Given the description of an element on the screen output the (x, y) to click on. 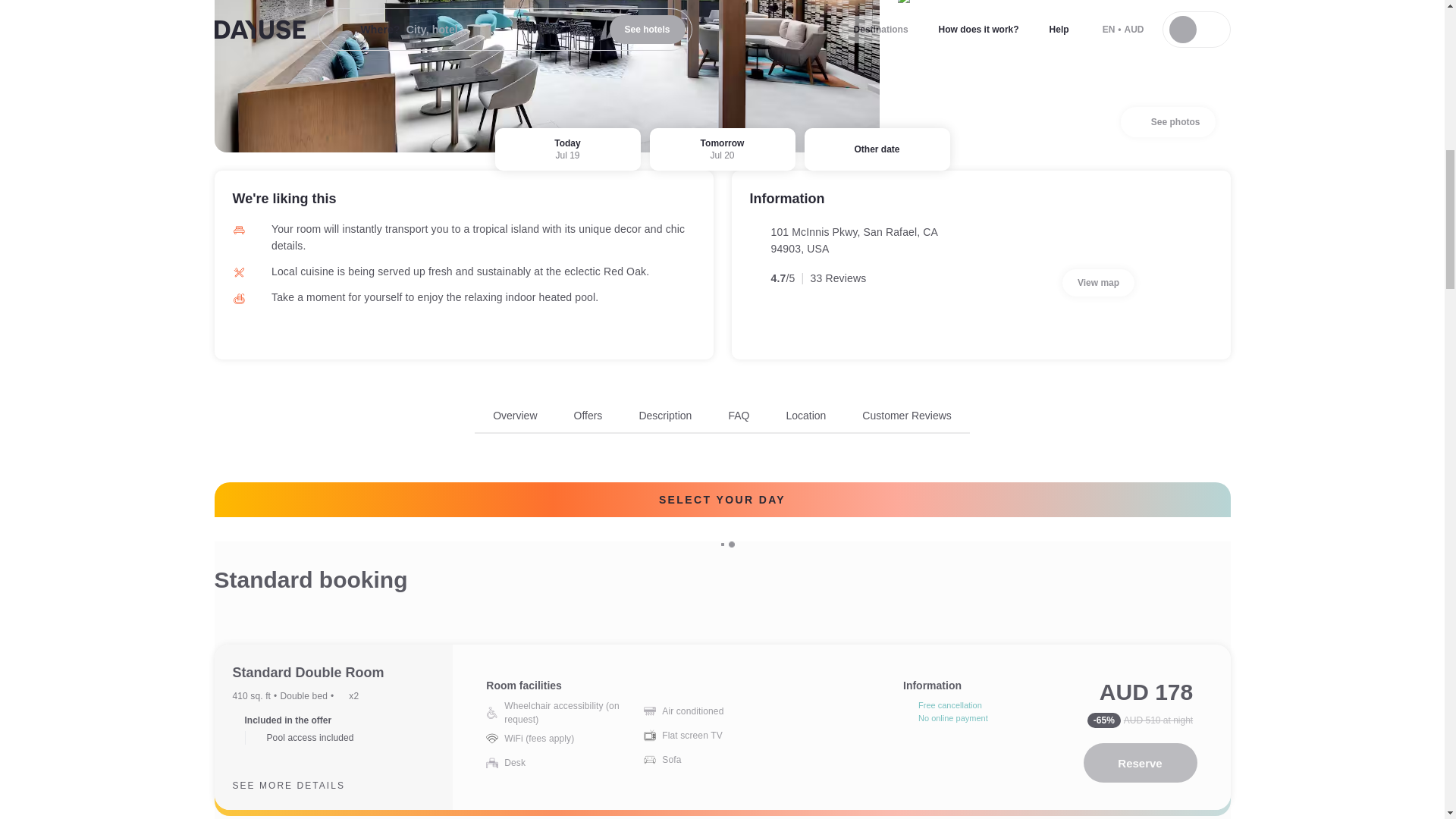
SEE MORE DETAILS (300, 785)
Overview (721, 420)
View map (515, 415)
Customer Reviews (1098, 282)
Location (905, 415)
Reserve (805, 415)
FAQ (1139, 762)
See photos (738, 415)
Description (1168, 122)
Offers (665, 415)
